Given the description of an element on the screen output the (x, y) to click on. 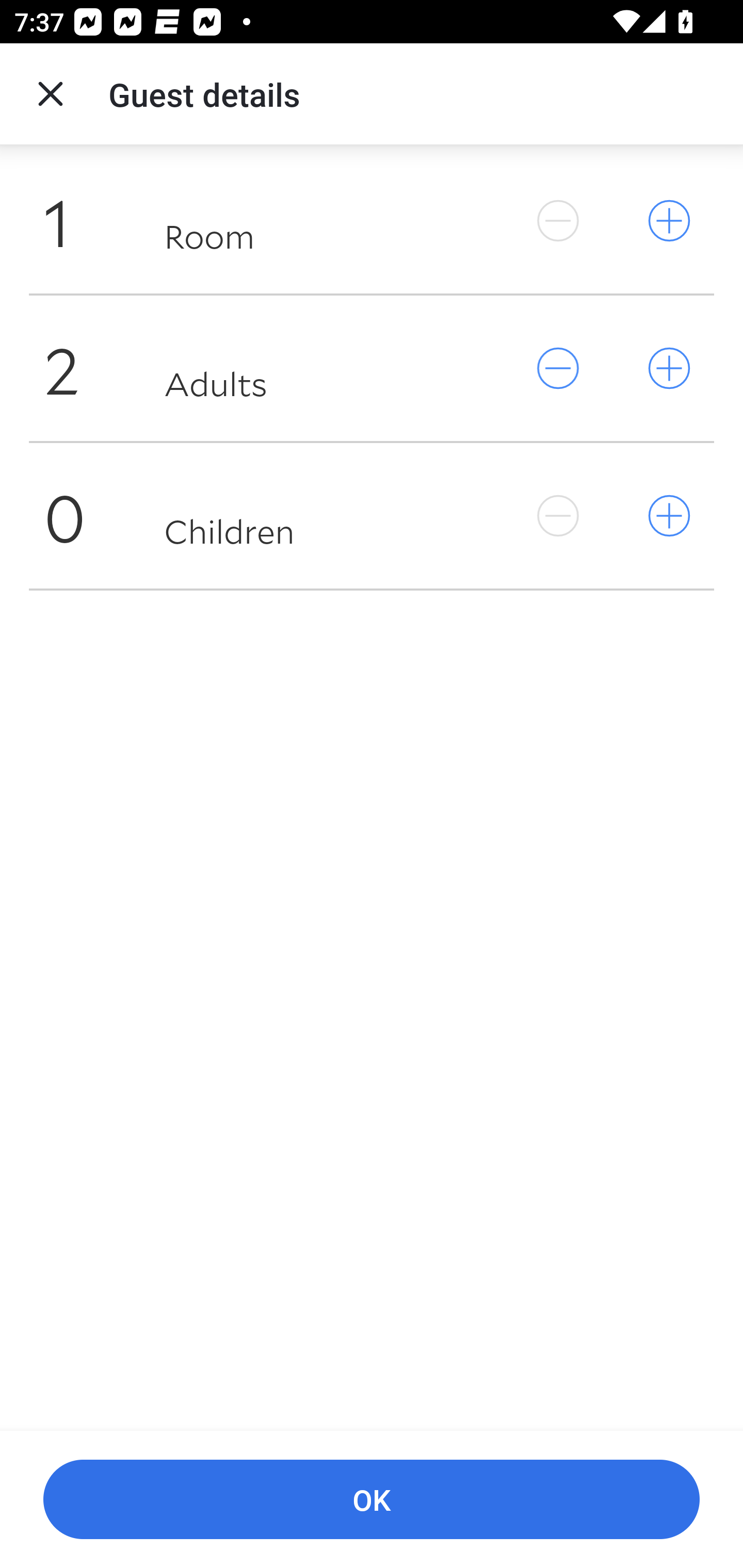
OK (371, 1499)
